Given the description of an element on the screen output the (x, y) to click on. 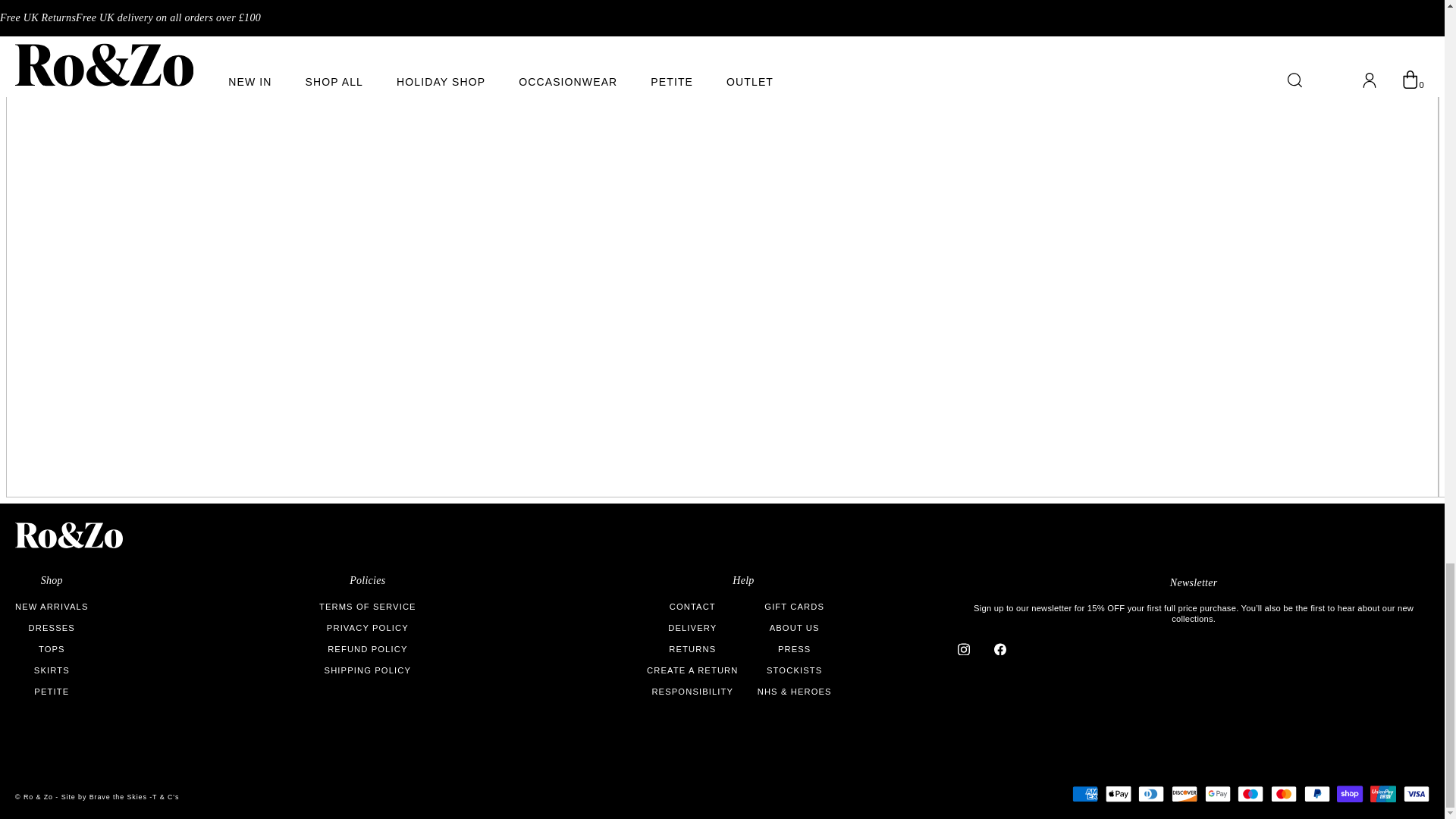
Maestro (1250, 793)
American Express (1084, 793)
Diners Club (1151, 793)
Mastercard (1284, 793)
Discover (1184, 793)
Apple Pay (1118, 793)
Union Pay (1383, 793)
Google Pay (1217, 793)
PayPal (1317, 793)
Visa (1416, 793)
Shop Pay (1349, 793)
